Given the description of an element on the screen output the (x, y) to click on. 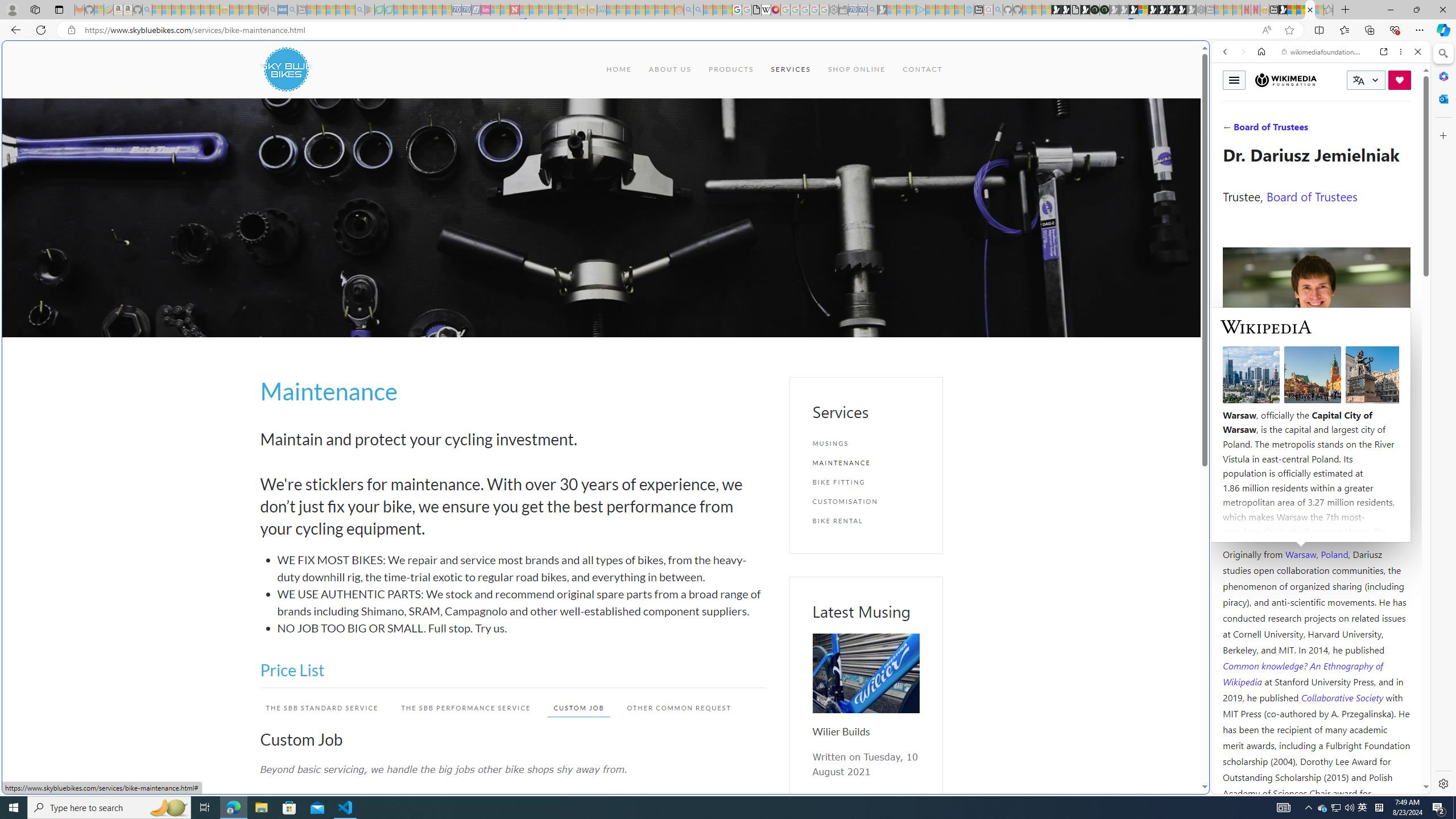
Board of Trustees (1311, 195)
Profile on Meta-Wiki (1273, 405)
Future Focus Report 2024 (1103, 9)
PRODUCTS (730, 68)
Close split screen (1208, 57)
THE SBB STANDARD SERVICE (322, 707)
Play Zoo Boom in your browser | Games from Microsoft Start (1065, 9)
BIKE RENTAL (865, 520)
Donate now (1399, 80)
